Given the description of an element on the screen output the (x, y) to click on. 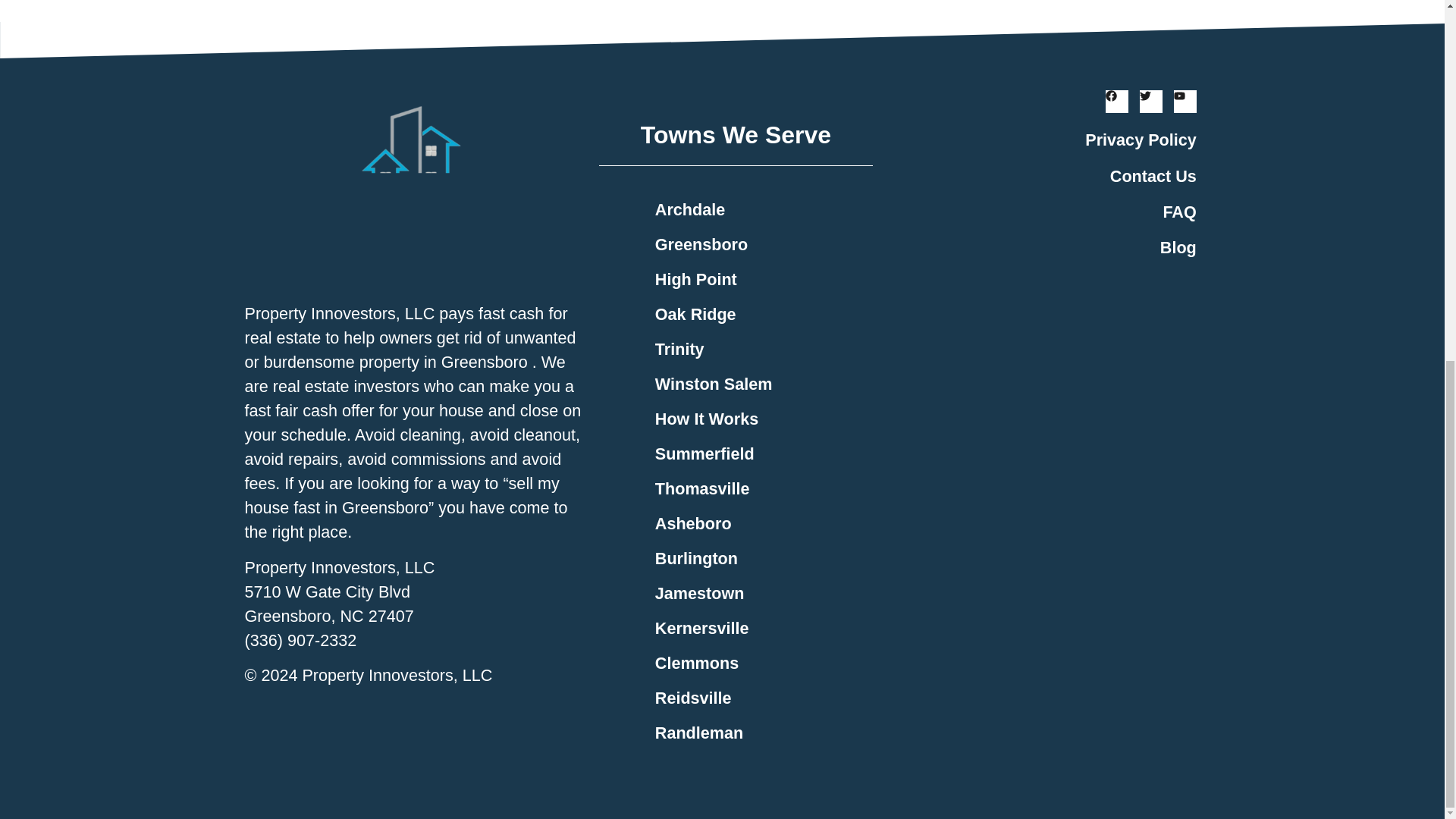
Clemmons (756, 663)
Reidsville (756, 697)
Jamestown (756, 593)
Archdale (756, 209)
How It Works (756, 419)
Winston Salem (756, 384)
Greensboro (756, 244)
Trinity (756, 349)
Oak Ridge (756, 314)
Summerfield (756, 453)
